Given the description of an element on the screen output the (x, y) to click on. 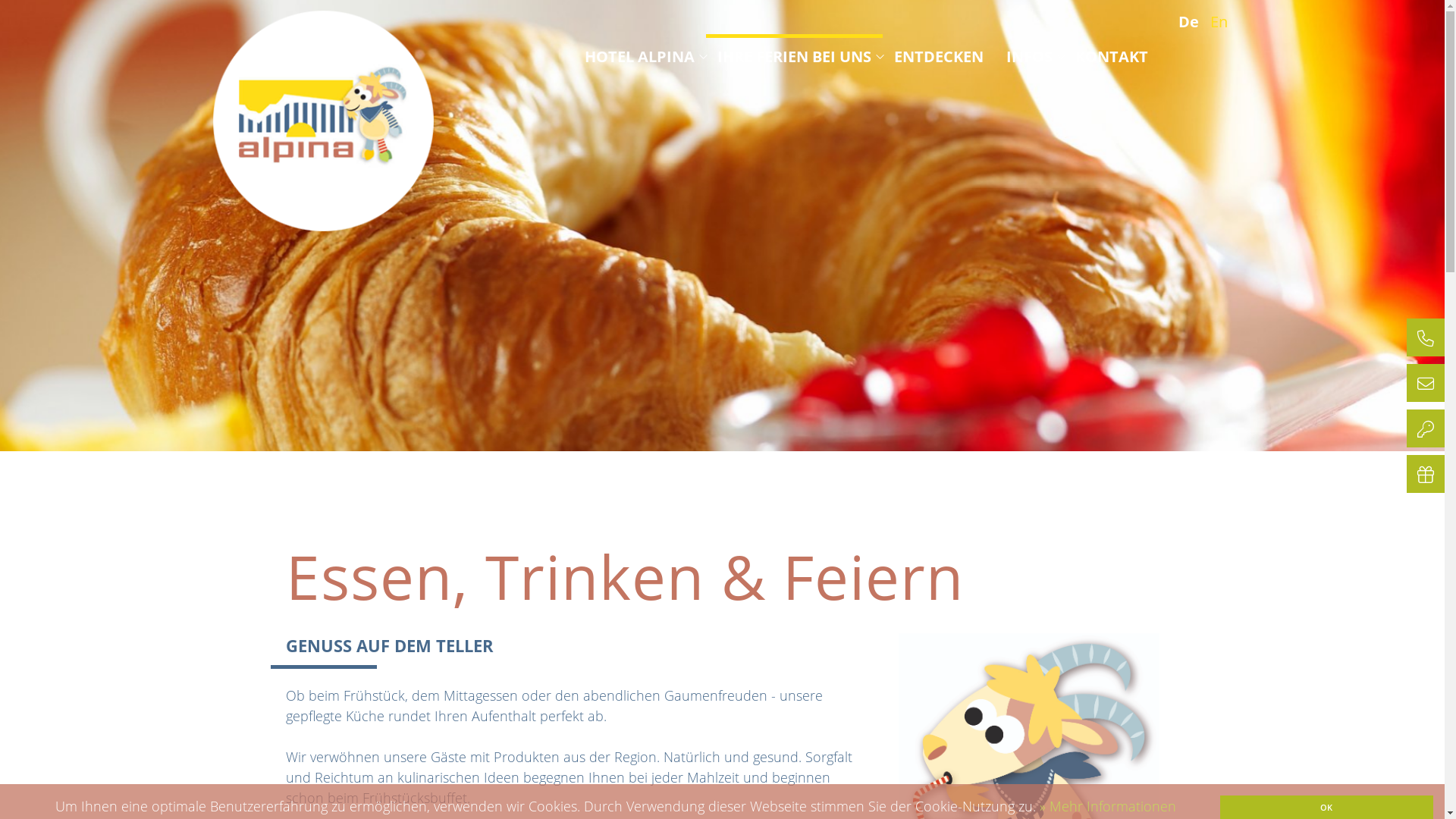
KONTAKT Element type: text (1111, 56)
ENTDECKEN Element type: text (937, 56)
De Element type: text (1192, 21)
IHRE FERIEN BEI UNS Element type: text (794, 56)
Hotel Alpina Adelboden Element type: hover (322, 121)
En Element type: text (1222, 21)
HOTEL ALPINA Element type: text (638, 56)
INFOS Element type: text (1028, 56)
